Given the description of an element on the screen output the (x, y) to click on. 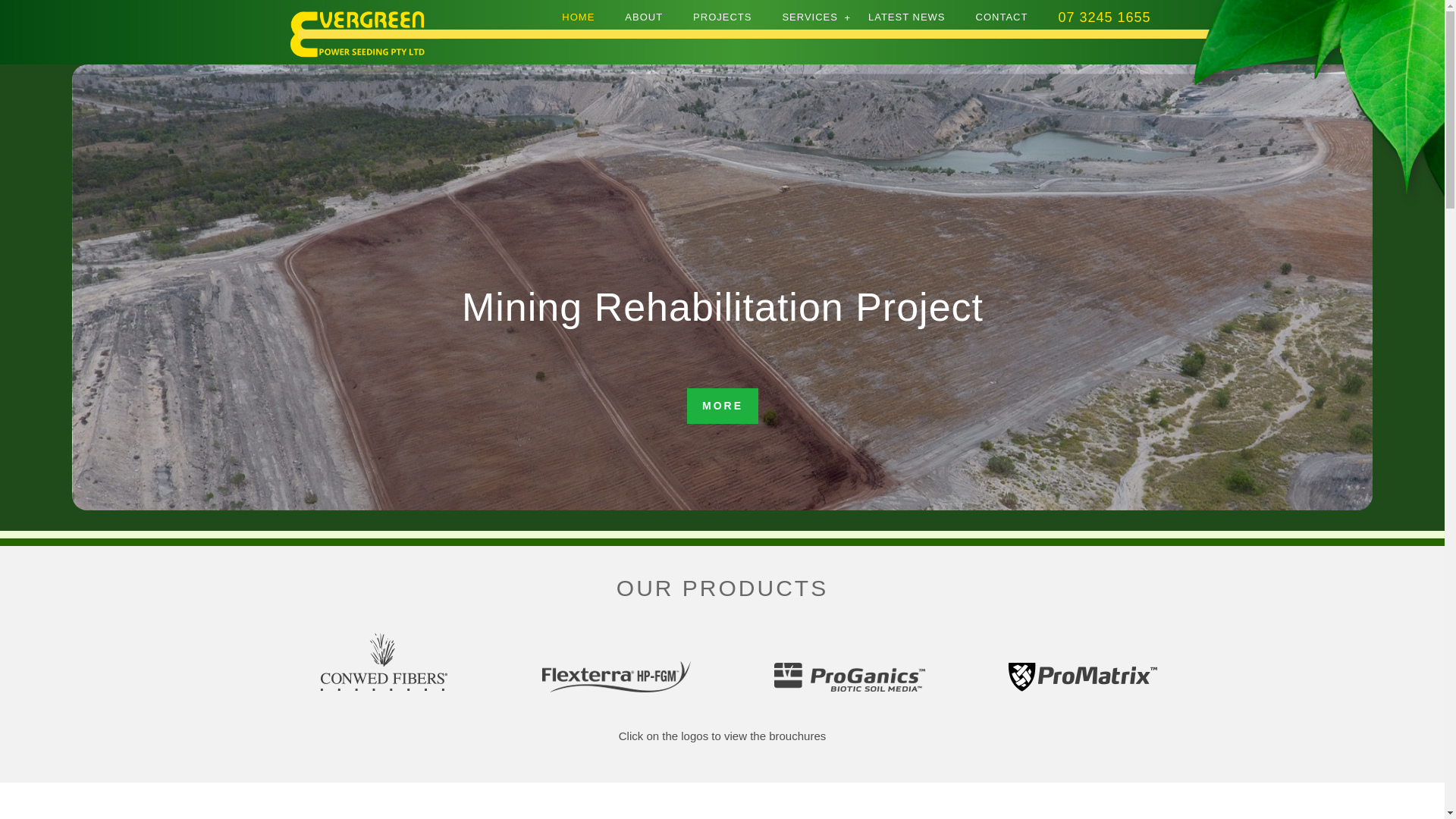
CONTACT Element type: text (1001, 17)
LATEST NEWS Element type: text (906, 17)
SERVICES Element type: text (809, 17)
HOME Element type: text (577, 17)
07 3245 1655 Element type: text (1103, 17)
MORE Element type: text (722, 405)
PROJECTS Element type: text (721, 17)
ABOUT Element type: text (643, 17)
